Given the description of an element on the screen output the (x, y) to click on. 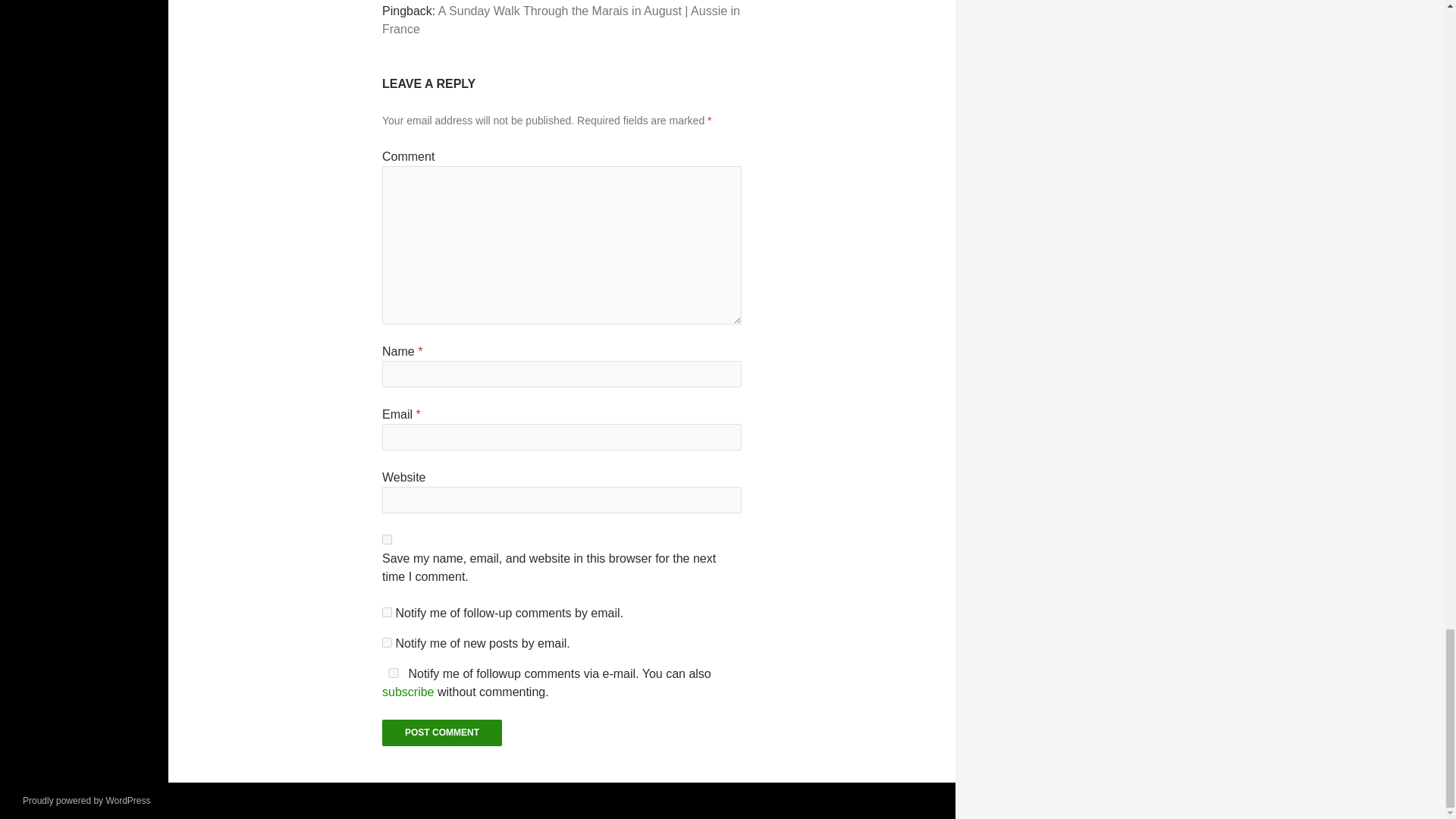
subscribe (386, 612)
yes (392, 673)
Post Comment (441, 732)
yes (386, 539)
subscribe (386, 642)
